Given the description of an element on the screen output the (x, y) to click on. 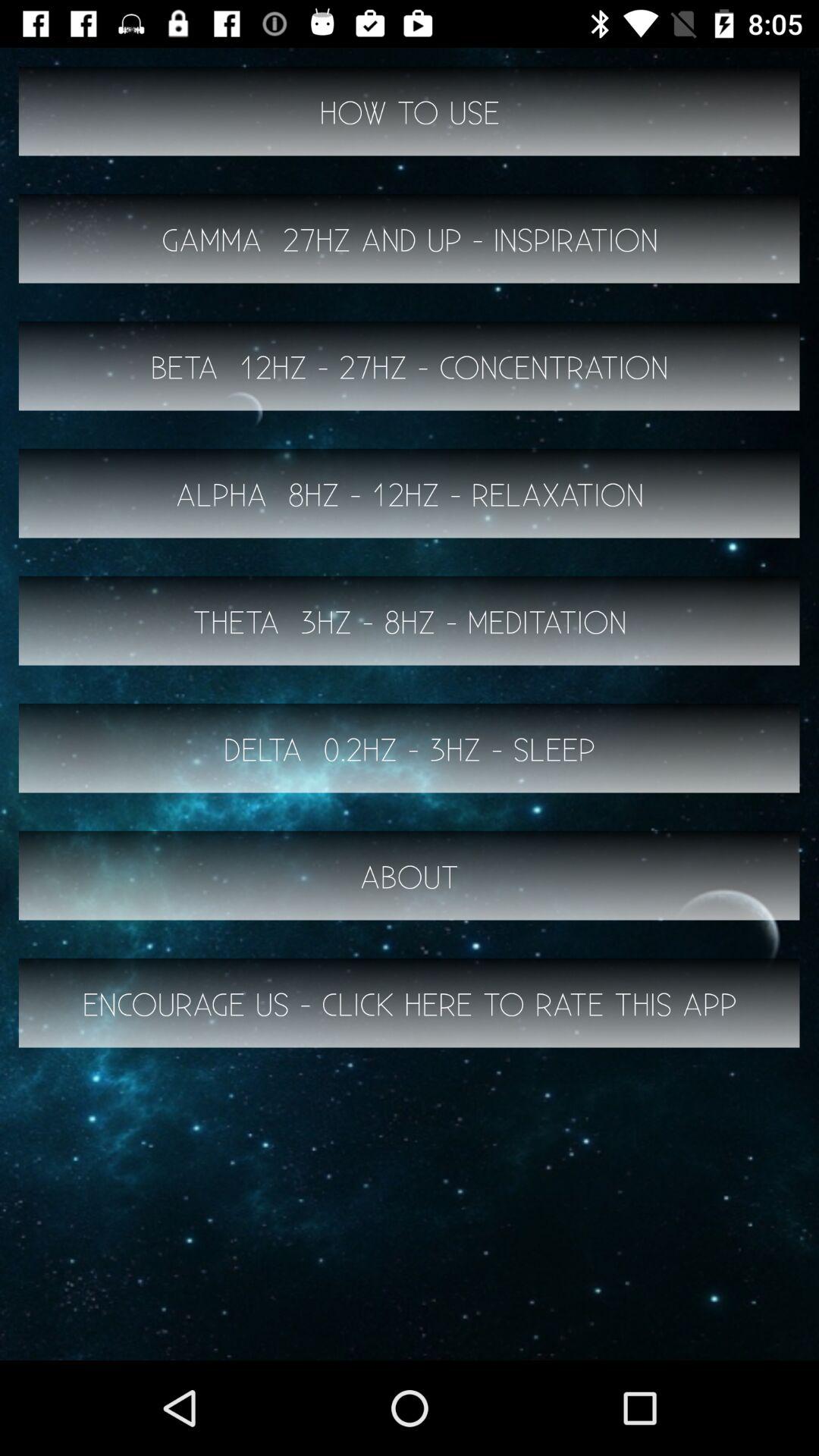
launch the theta 3hz 8hz item (409, 620)
